Given the description of an element on the screen output the (x, y) to click on. 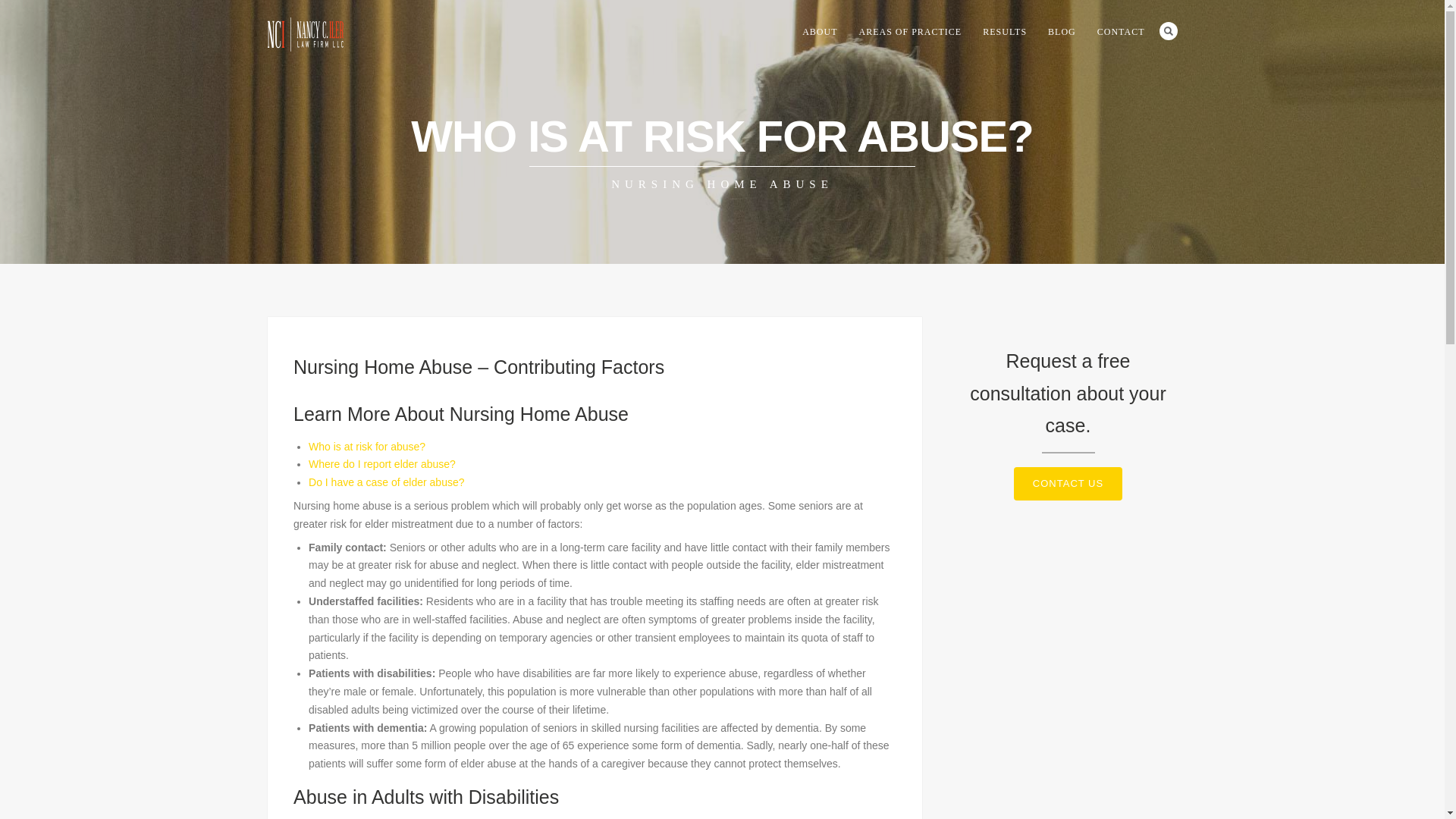
CONTACT (1121, 31)
RESULTS (1004, 31)
ABOUT (819, 31)
BLOG (1061, 31)
Search (1167, 31)
AREAS OF PRACTICE (910, 31)
